Given the description of an element on the screen output the (x, y) to click on. 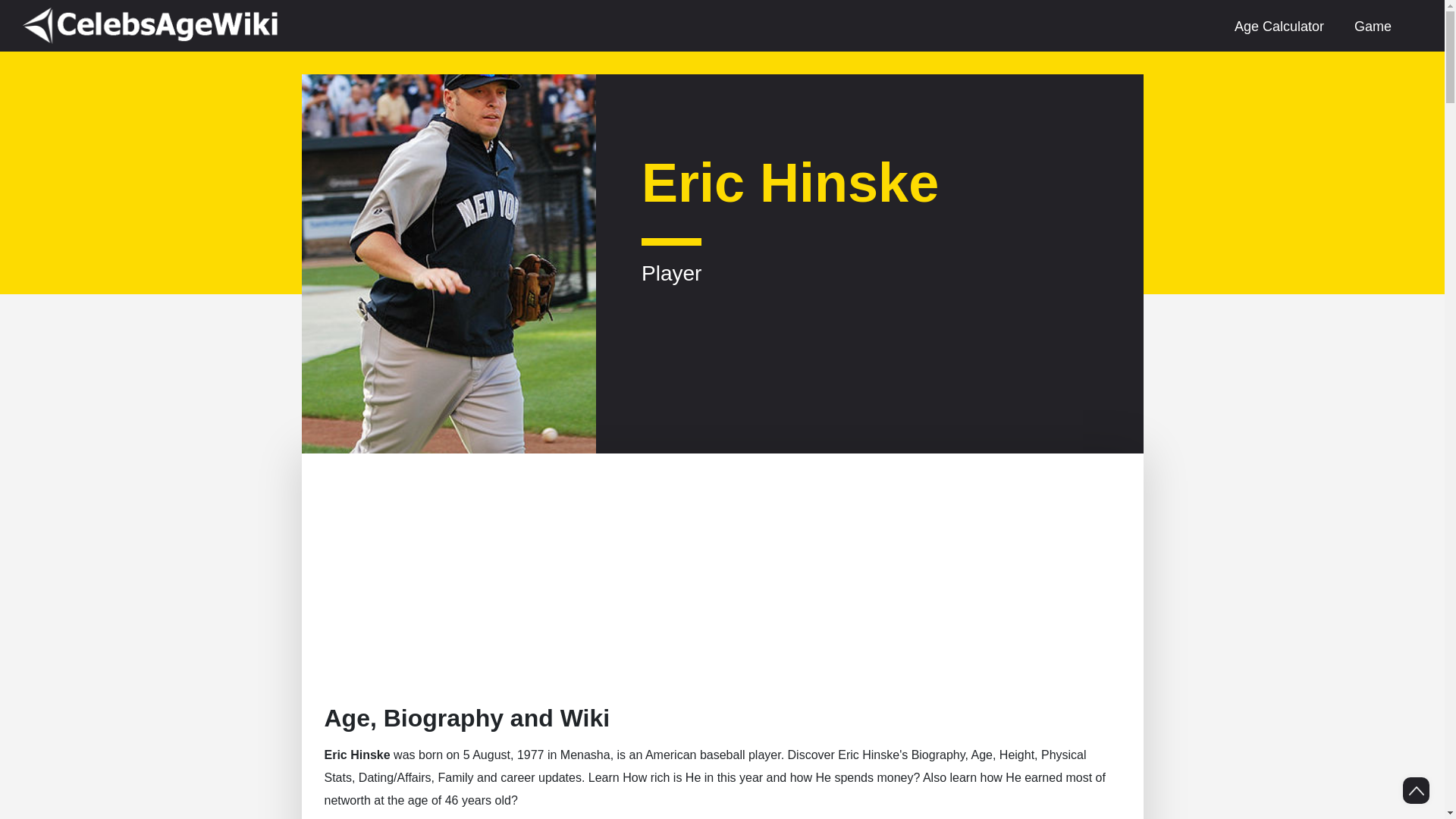
Game (1372, 26)
Player (671, 260)
Age Calculator (1279, 26)
